Given the description of an element on the screen output the (x, y) to click on. 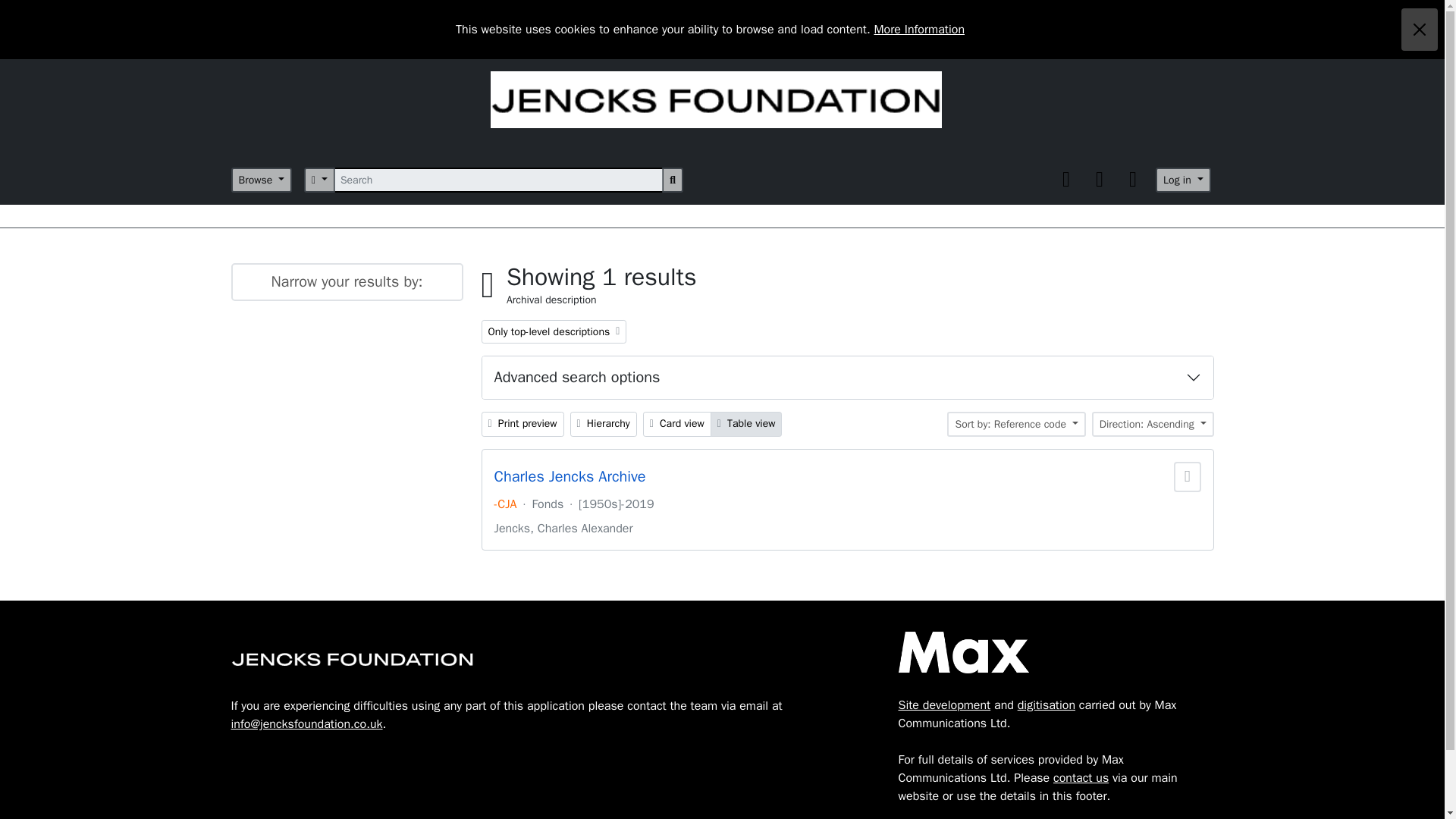
Search options (319, 179)
Language (1099, 179)
More Information (918, 29)
Skip to main content (54, 18)
Quick links (1133, 179)
Narrow your results by: (346, 281)
Log in (1182, 179)
Language (1099, 179)
Quick links (1133, 179)
